Given the description of an element on the screen output the (x, y) to click on. 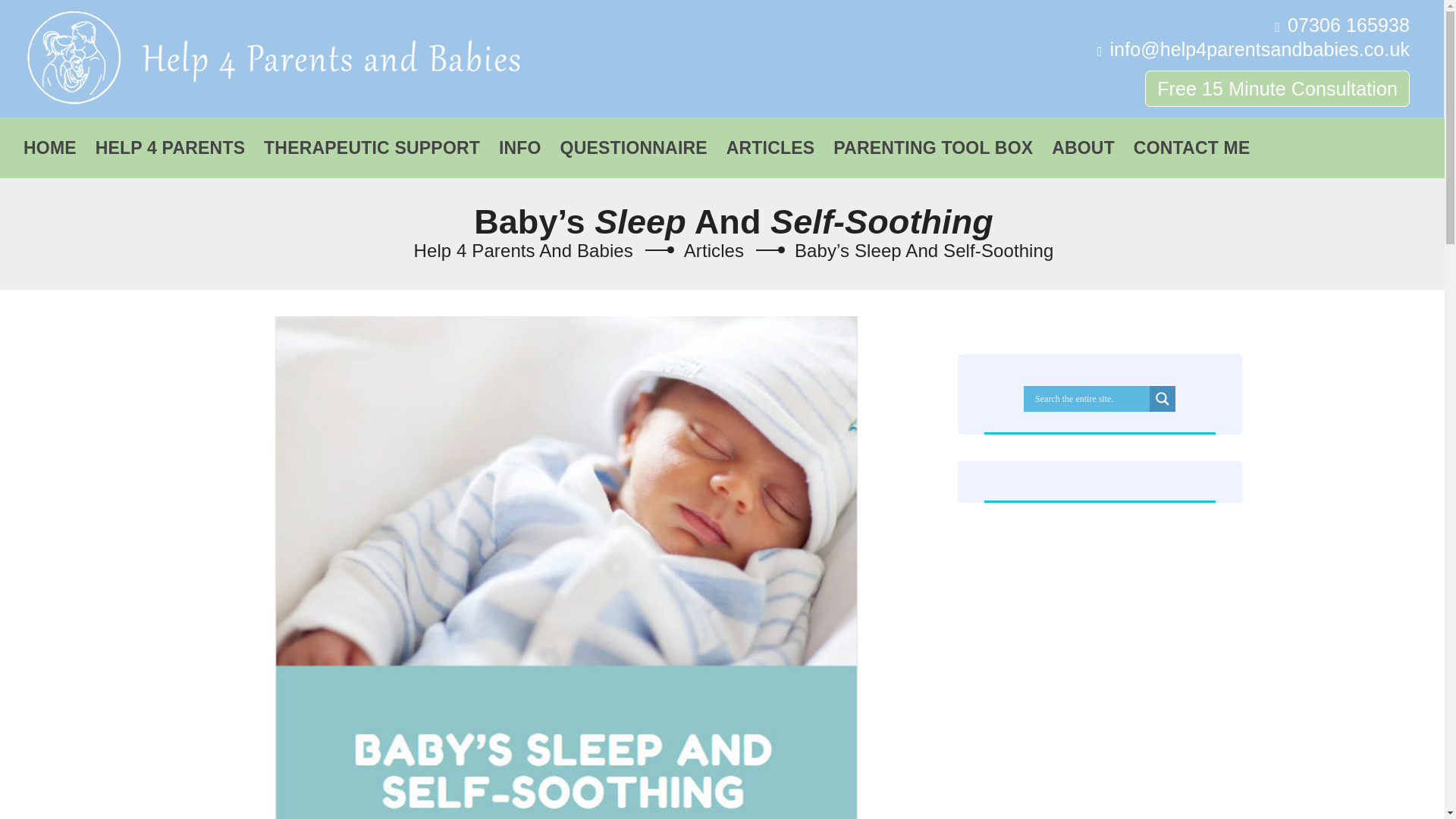
PARENTING TOOL BOX (933, 139)
Go to the Articles Category archives. (714, 250)
HOME (49, 139)
Go to Help 4 Parents and Babies. (523, 250)
INFO (520, 139)
QUESTIONNAIRE (633, 139)
Free 15 Minute Consultation (1276, 88)
THERAPEUTIC SUPPORT (371, 139)
HELP 4 PARENTS (170, 139)
07306 165938 (1348, 25)
